Given the description of an element on the screen output the (x, y) to click on. 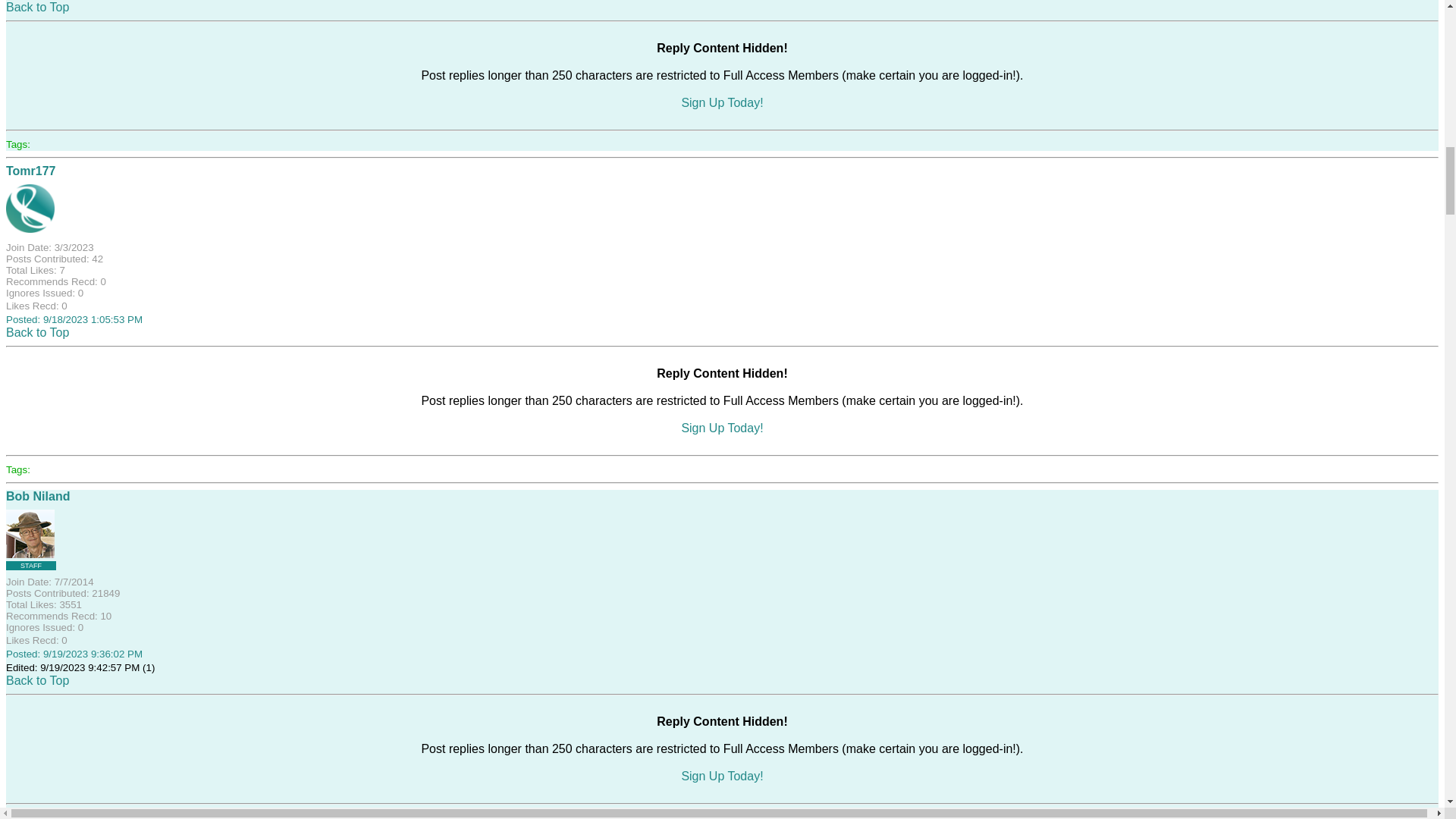
permalink (73, 654)
permalink (73, 319)
